Given the description of an element on the screen output the (x, y) to click on. 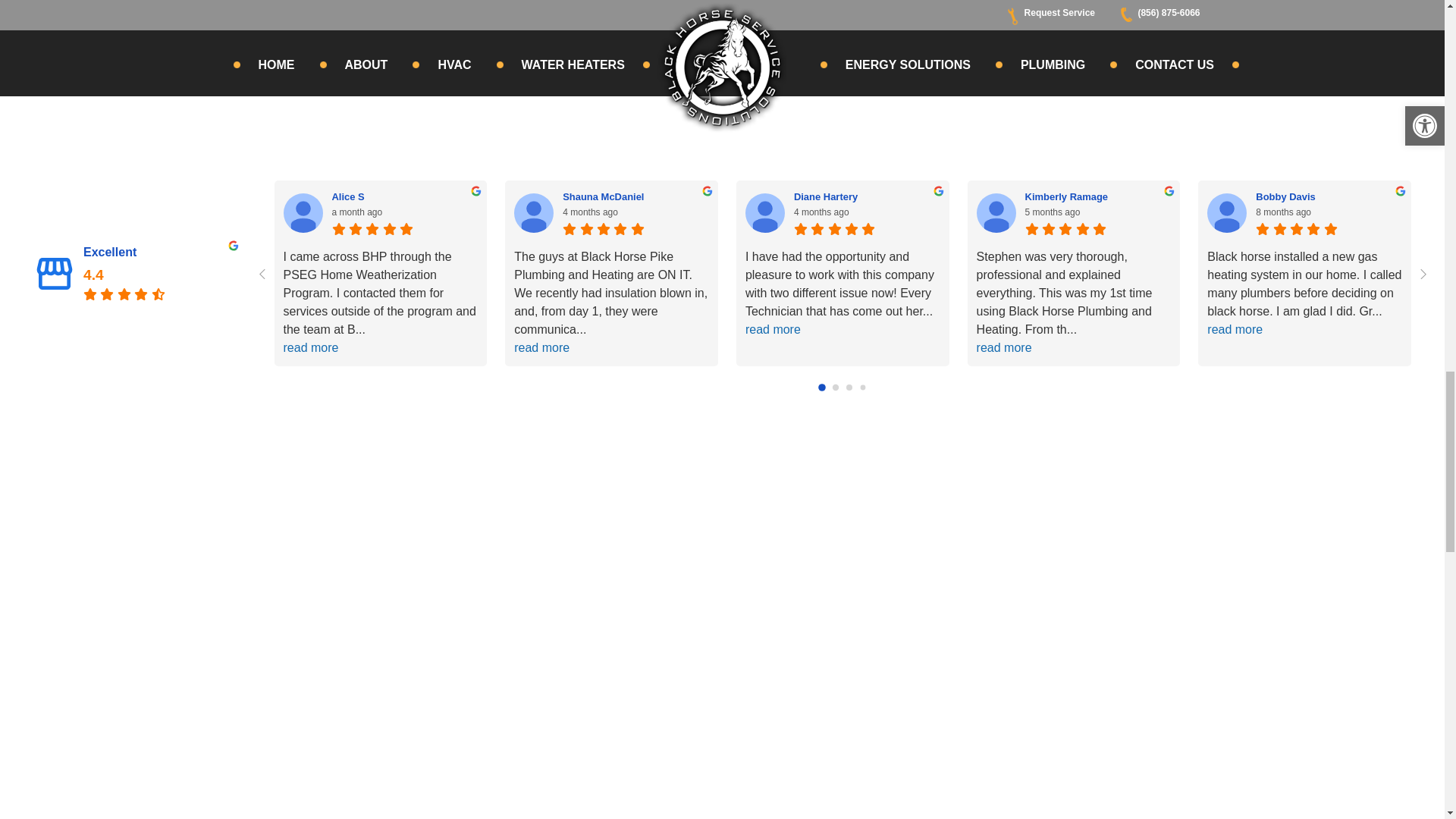
Diane Hartery (764, 212)
Alice S (303, 212)
Shauna McDaniel (533, 212)
Kimberly Ramage (996, 212)
Shauna McDaniel (635, 196)
Diane Hartery (866, 196)
Black Horse Plumbing, Heating and Air (54, 273)
Alice S (405, 196)
